Given the description of an element on the screen output the (x, y) to click on. 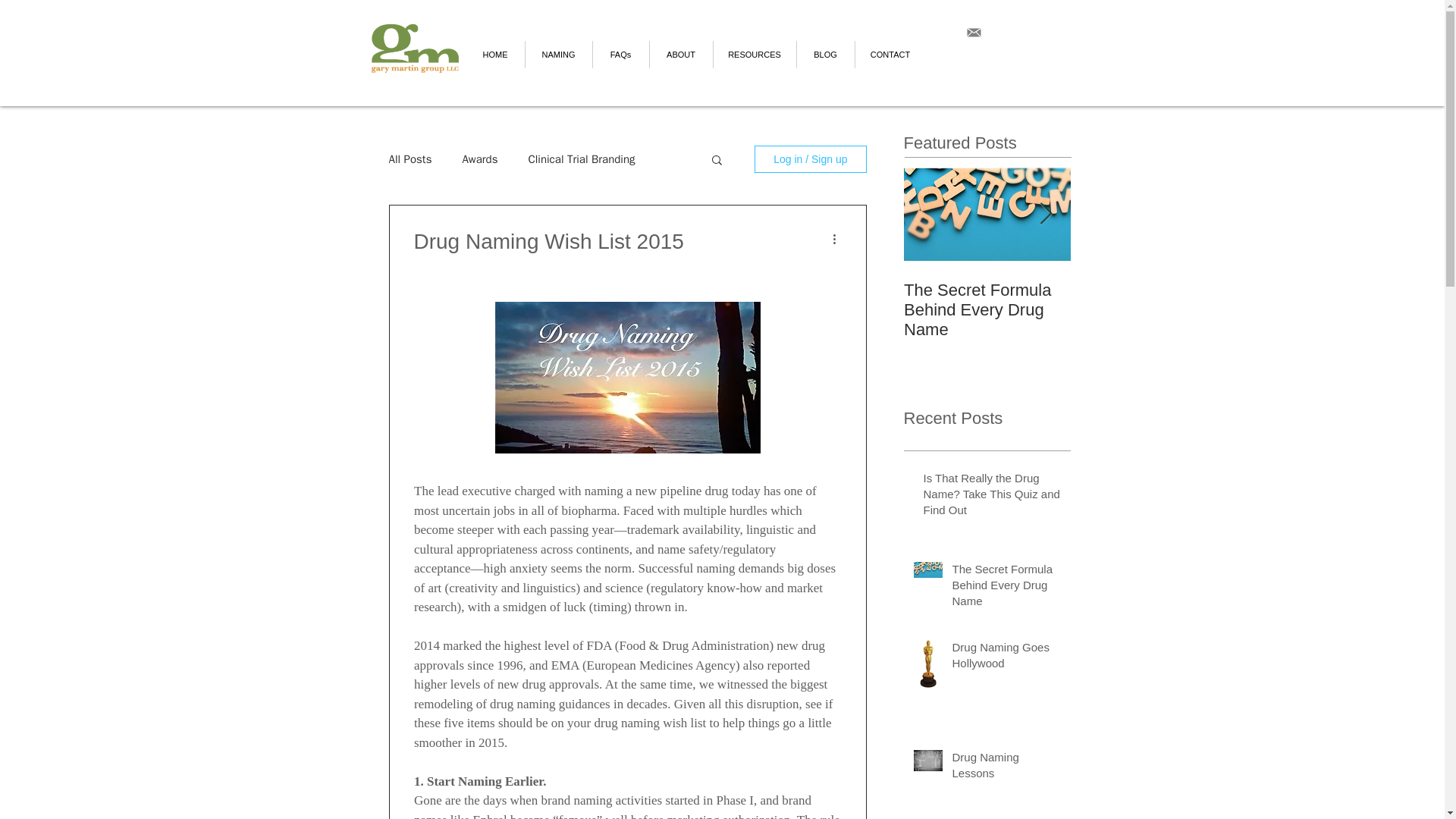
RESOURCES (754, 53)
BLOG (825, 53)
ABOUT (681, 53)
All Posts (409, 158)
Gary Martin Group (413, 47)
NAMING (558, 53)
HOME (494, 53)
FAQs (619, 53)
CONTACT (888, 53)
Awards (479, 158)
Clinical Trial Branding (580, 158)
